Given the description of an element on the screen output the (x, y) to click on. 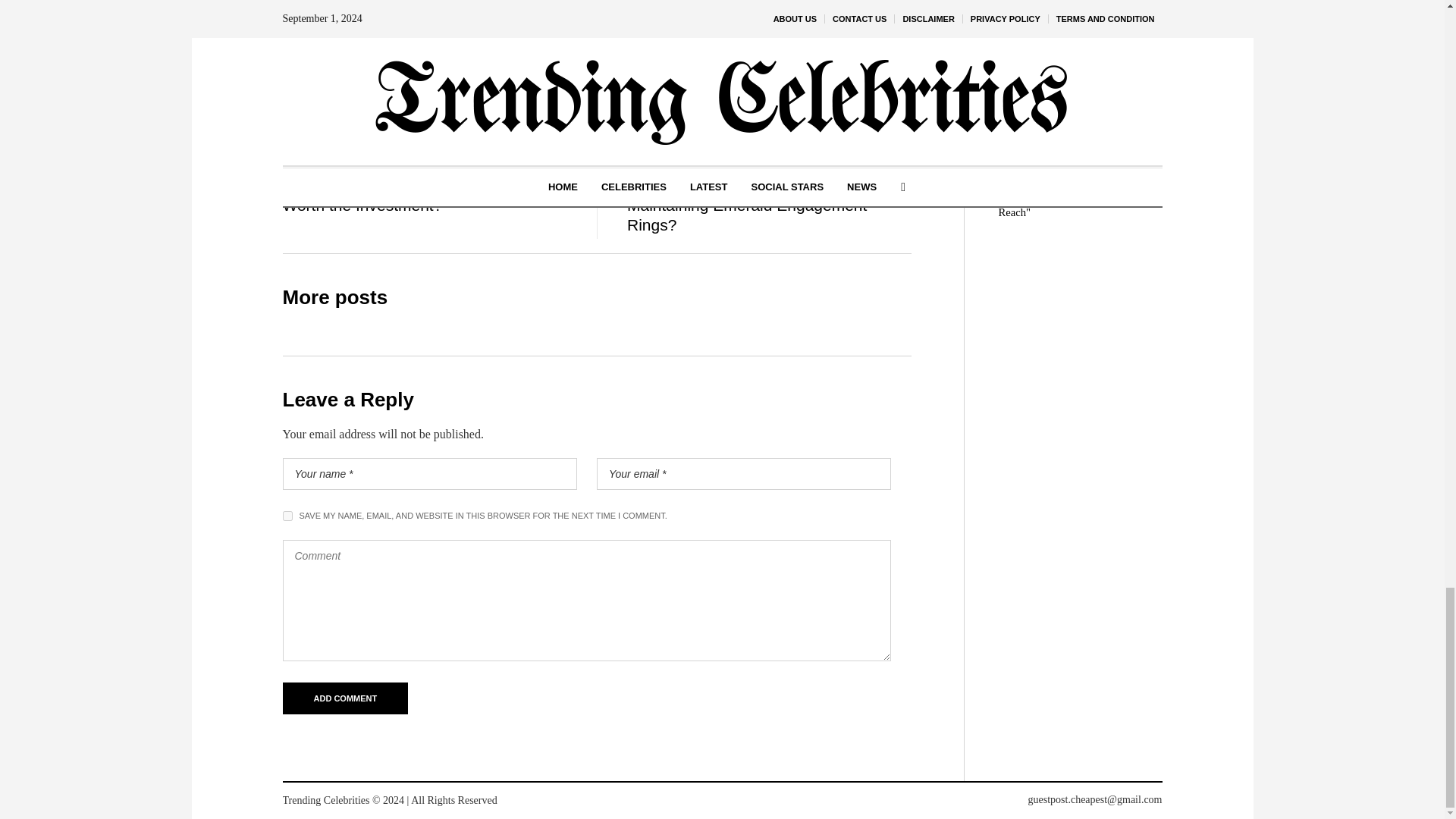
Add Comment (344, 698)
Add Comment (344, 698)
ITop Screen Recorder (516, 83)
Are Expensive Activewear T-Shirts Worth the Investment? (403, 195)
yes (287, 515)
